Given the description of an element on the screen output the (x, y) to click on. 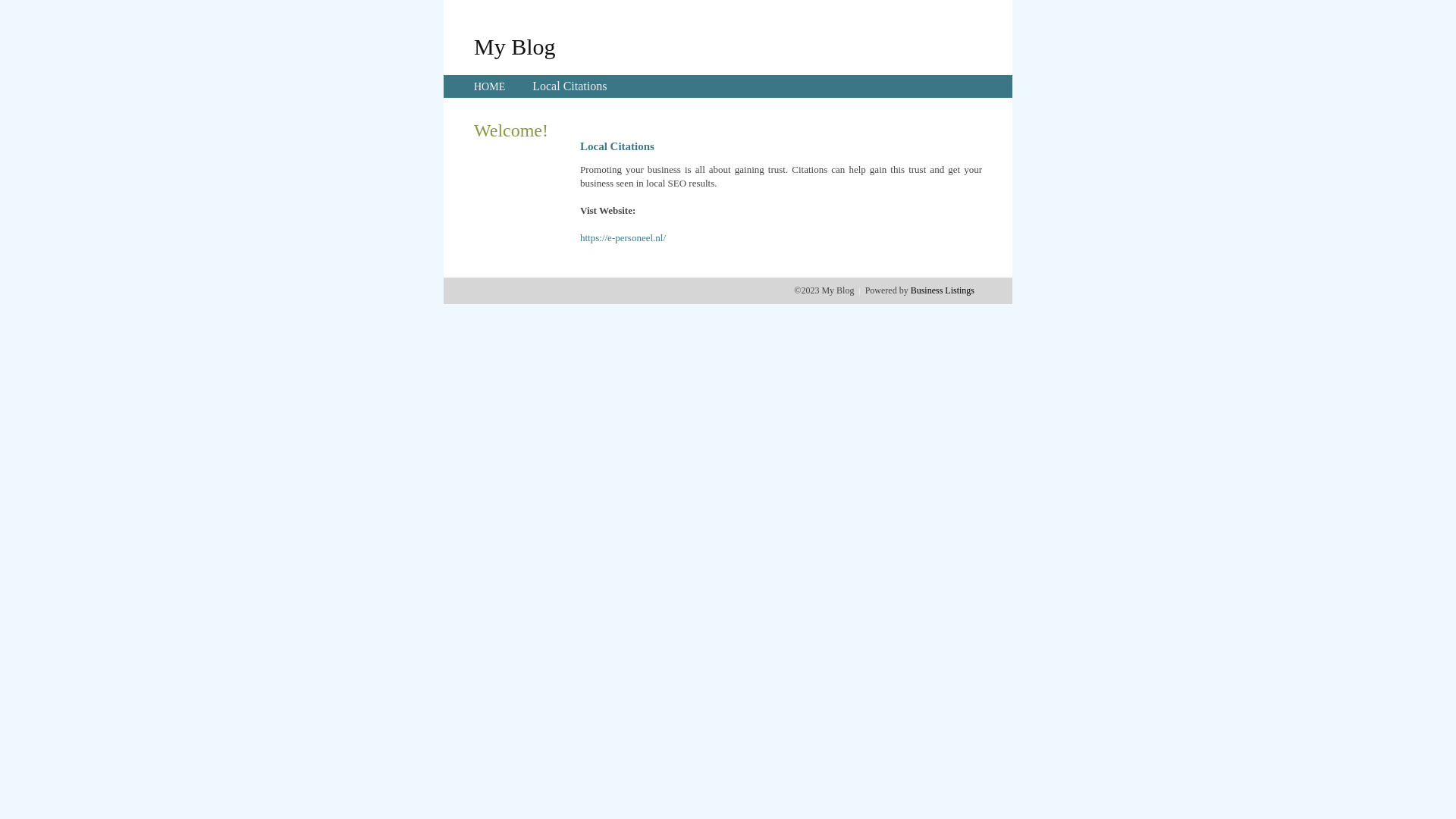
My Blog Element type: text (514, 46)
Local Citations Element type: text (569, 85)
HOME Element type: text (489, 86)
Business Listings Element type: text (942, 290)
https://e-personeel.nl/ Element type: text (622, 237)
